Given the description of an element on the screen output the (x, y) to click on. 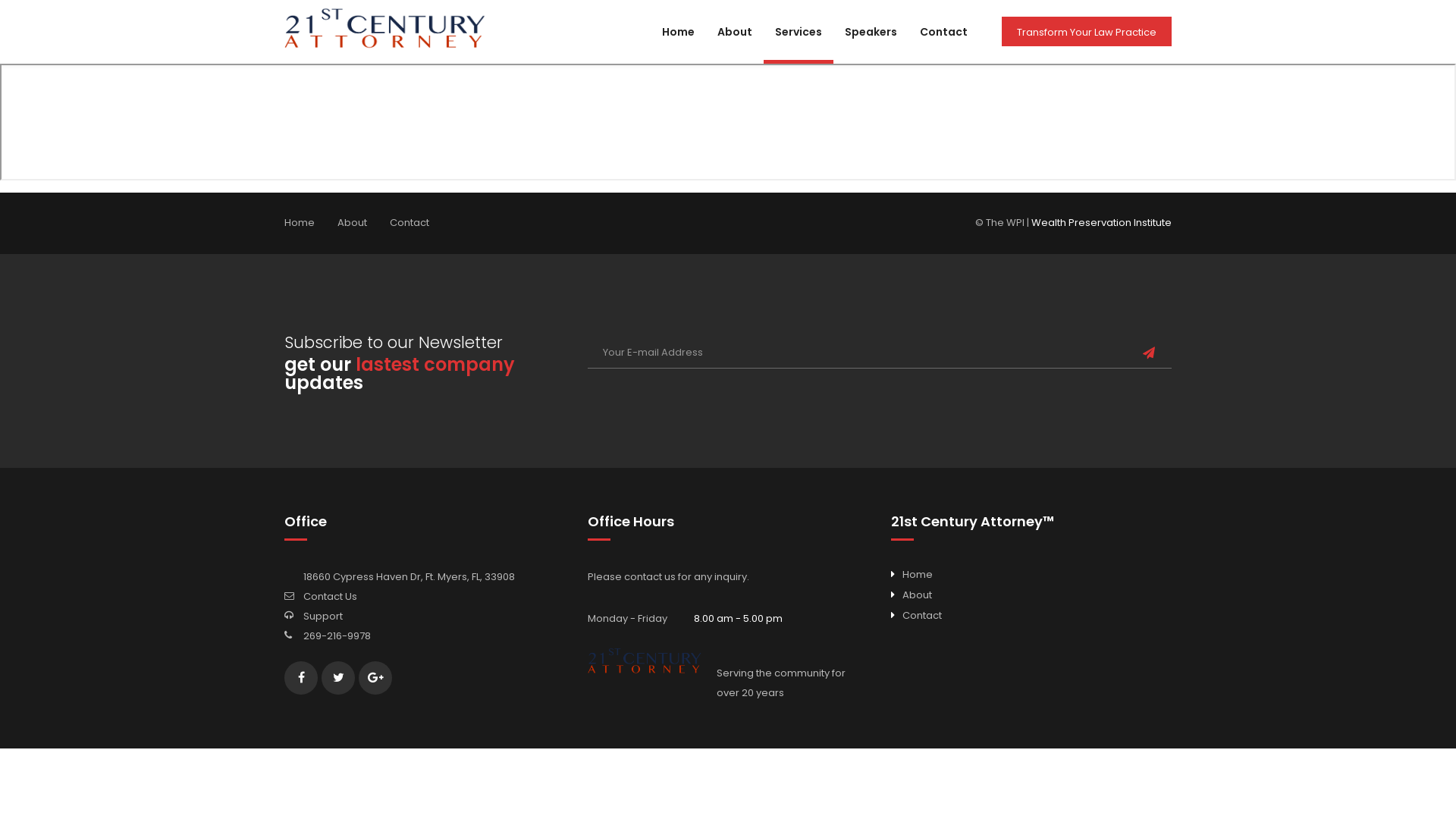
Home Element type: text (299, 222)
About Element type: text (916, 594)
Contact Element type: text (409, 222)
Transform Your Law Practice Element type: text (1086, 31)
269-216-9978 Element type: text (336, 635)
Wealth Preservation Institute Element type: text (1100, 222)
Home Element type: text (917, 574)
Support Element type: text (322, 615)
Contact Us Element type: text (330, 596)
Contact Element type: text (943, 44)
About Element type: text (352, 222)
Services Element type: text (798, 44)
Speakers Element type: text (870, 44)
About Element type: text (734, 44)
Contact Element type: text (921, 615)
Home Element type: text (678, 44)
Subscribe Element type: text (1148, 352)
